Given the description of an element on the screen output the (x, y) to click on. 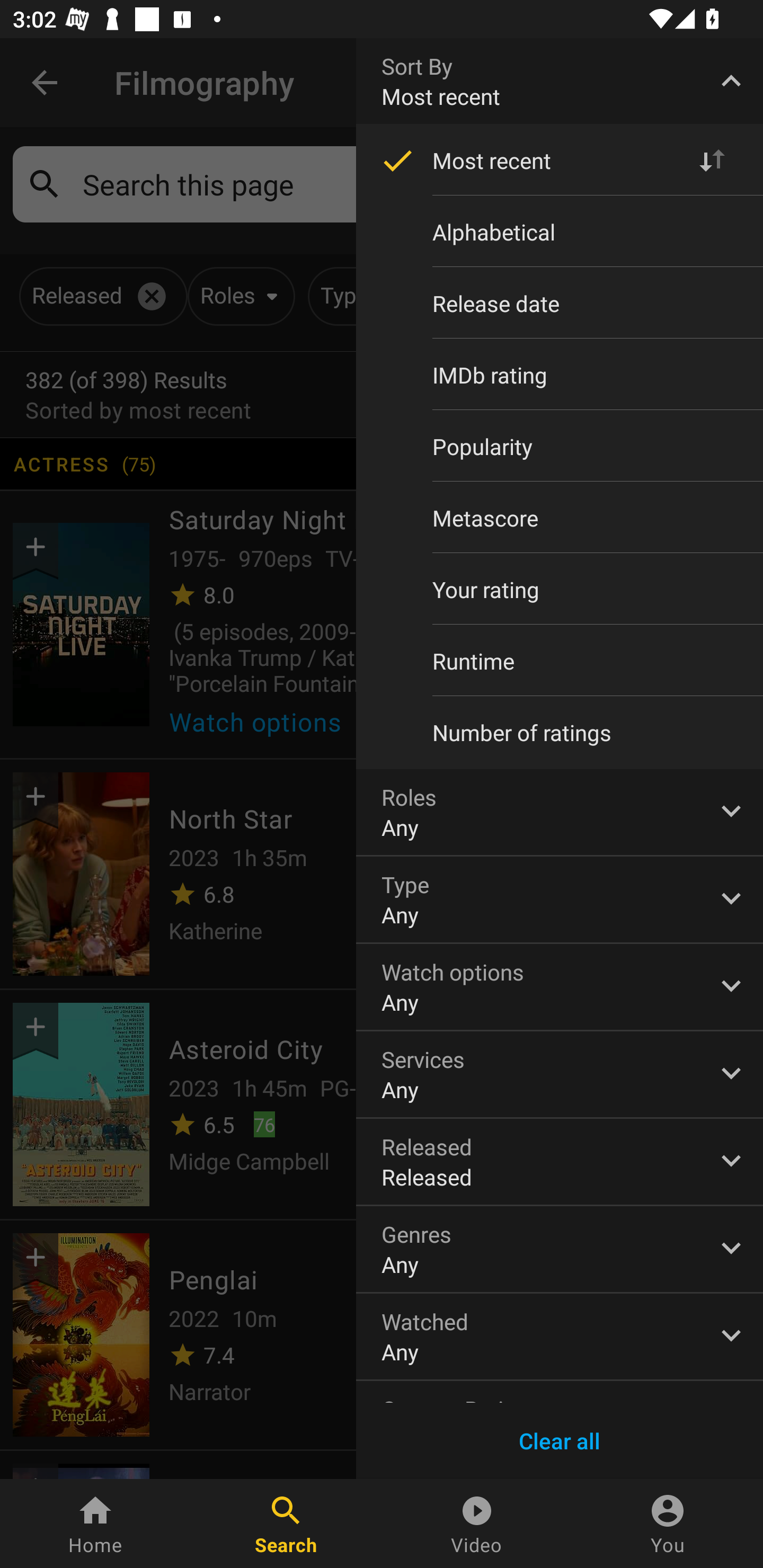
Sort By Most recent (559, 80)
Most recent (559, 160)
Alphabetical (559, 231)
Release date (559, 303)
IMDb rating (559, 374)
Popularity (559, 445)
Metascore (559, 517)
Your rating (559, 589)
Runtime (559, 660)
Number of ratings (559, 732)
Roles Any (559, 811)
Type Any (559, 899)
Watch options Any (559, 986)
Services Any (559, 1073)
Released (559, 1161)
Genres Any (559, 1248)
Watched Any (559, 1336)
Clear all (559, 1440)
Home (95, 1523)
Video (476, 1523)
You (667, 1523)
